Given the description of an element on the screen output the (x, y) to click on. 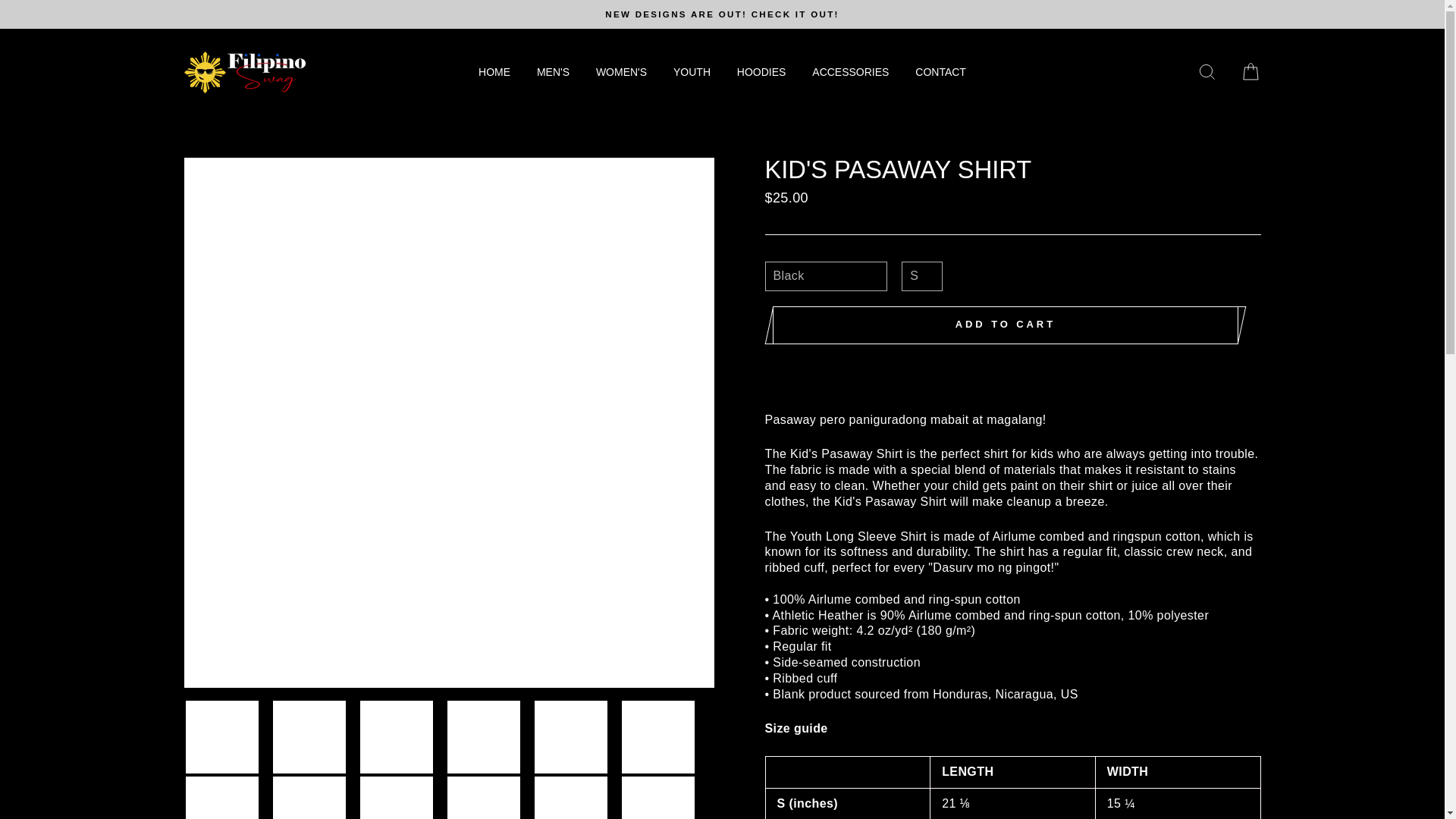
CART (1249, 72)
CONTACT (940, 72)
ACCESSORIES (849, 72)
WOMEN'S (621, 72)
ADD TO CART (1005, 324)
HOME (494, 72)
MEN'S (552, 72)
HOODIES (761, 72)
YOUTH (692, 72)
